Given the description of an element on the screen output the (x, y) to click on. 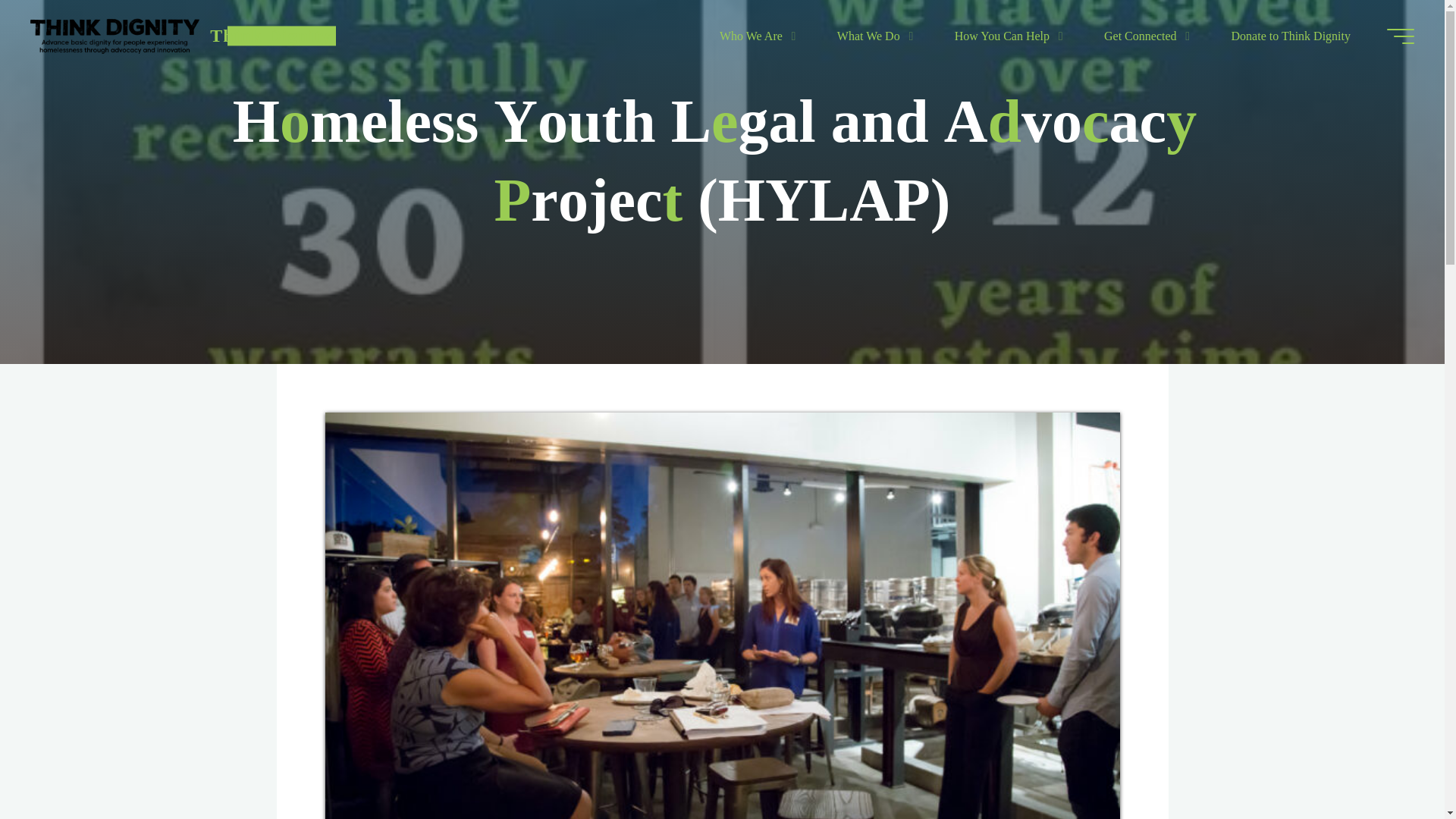
How You Can Help (1005, 35)
What We Do (871, 35)
Think Dignity (114, 35)
Get Connected (1143, 35)
Think Dignity (270, 35)
Read more (721, 270)
Who We Are (753, 35)
